Given the description of an element on the screen output the (x, y) to click on. 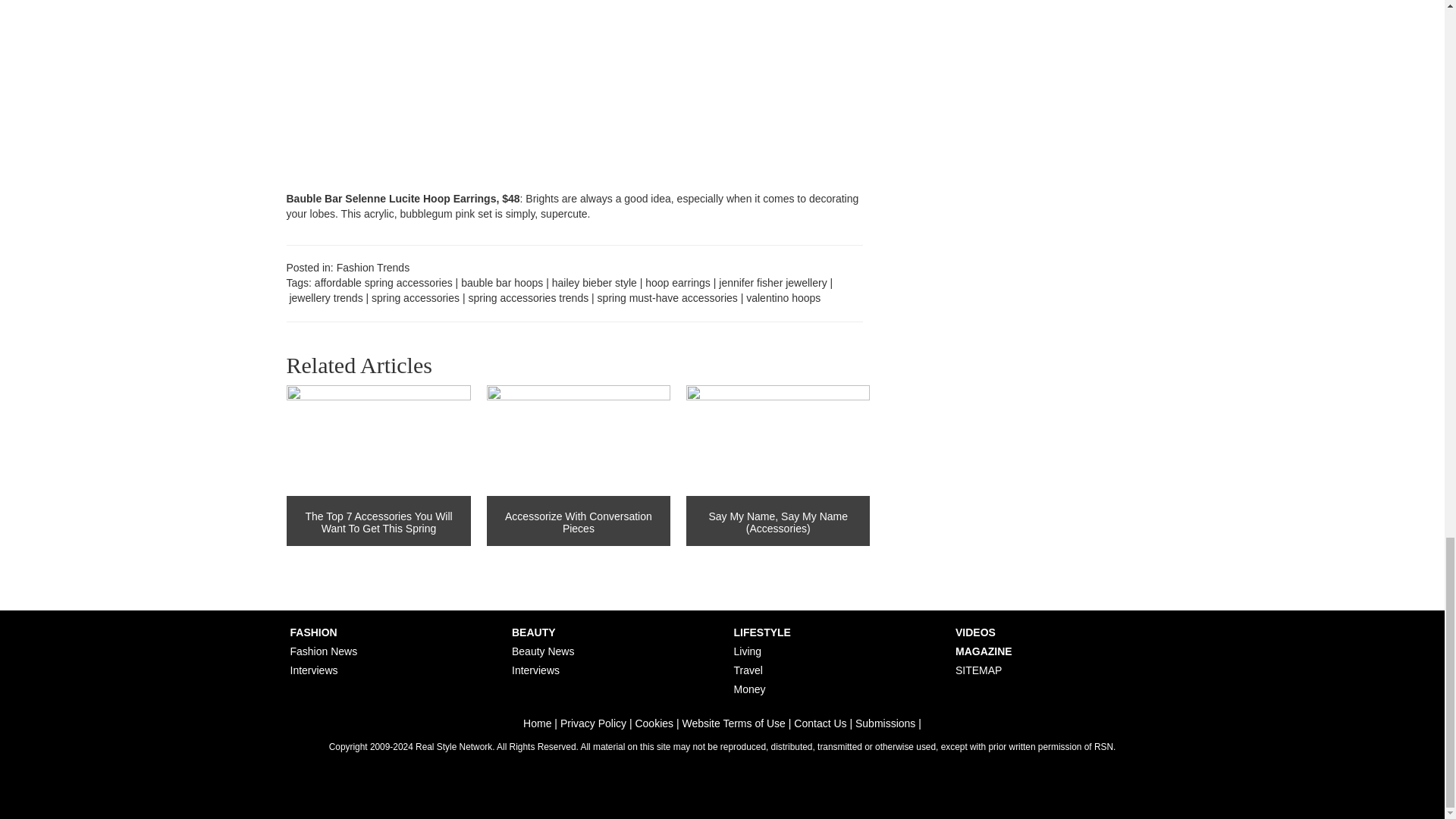
Fashion Trends (373, 267)
hailey bieber style (594, 282)
jennifer fisher jewellery (773, 282)
affordable spring accessories (383, 282)
bauble bar hoops (502, 282)
hoop earrings (677, 282)
